Given the description of an element on the screen output the (x, y) to click on. 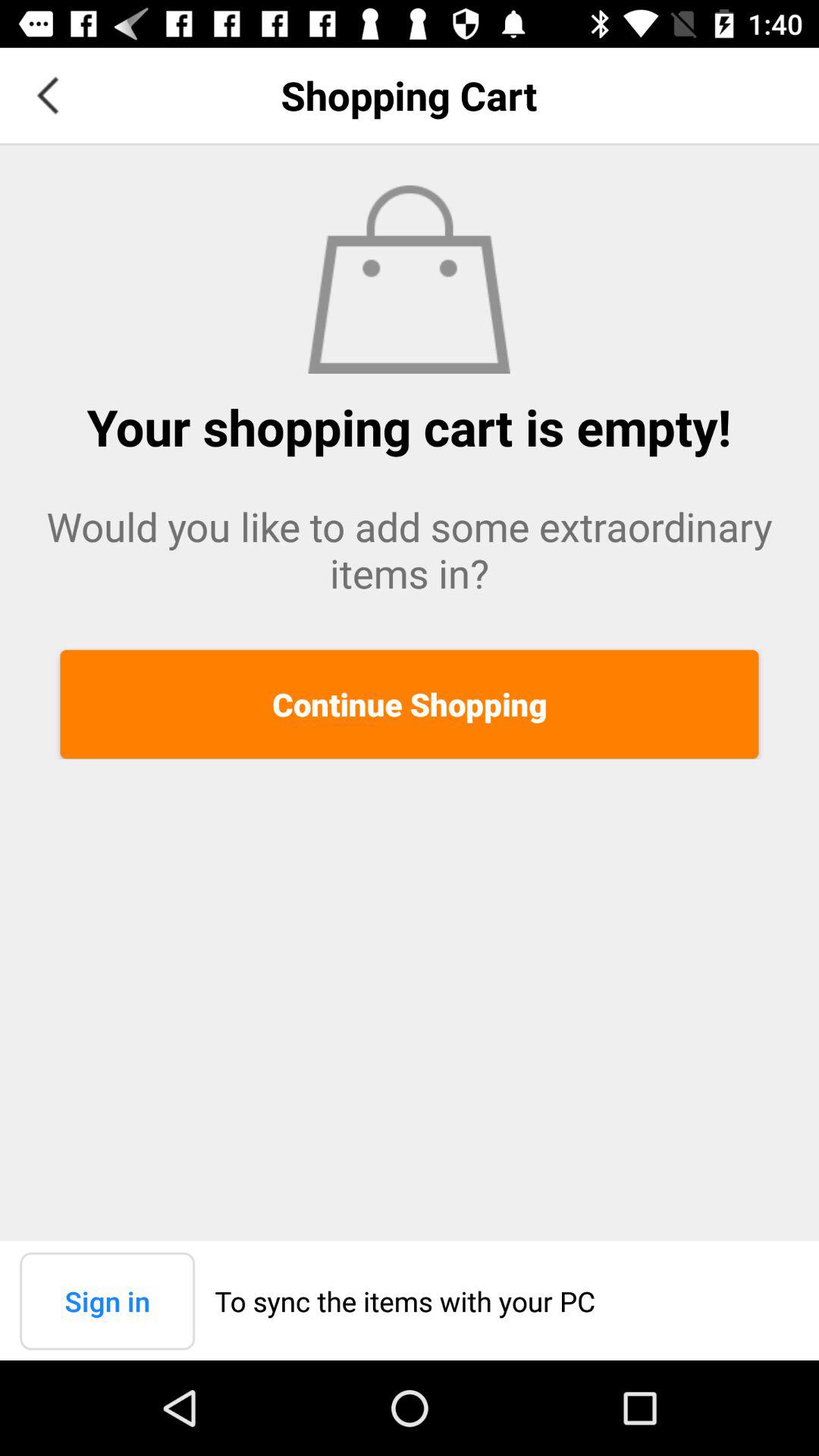
launch item to the left of shopping cart icon (47, 95)
